Given the description of an element on the screen output the (x, y) to click on. 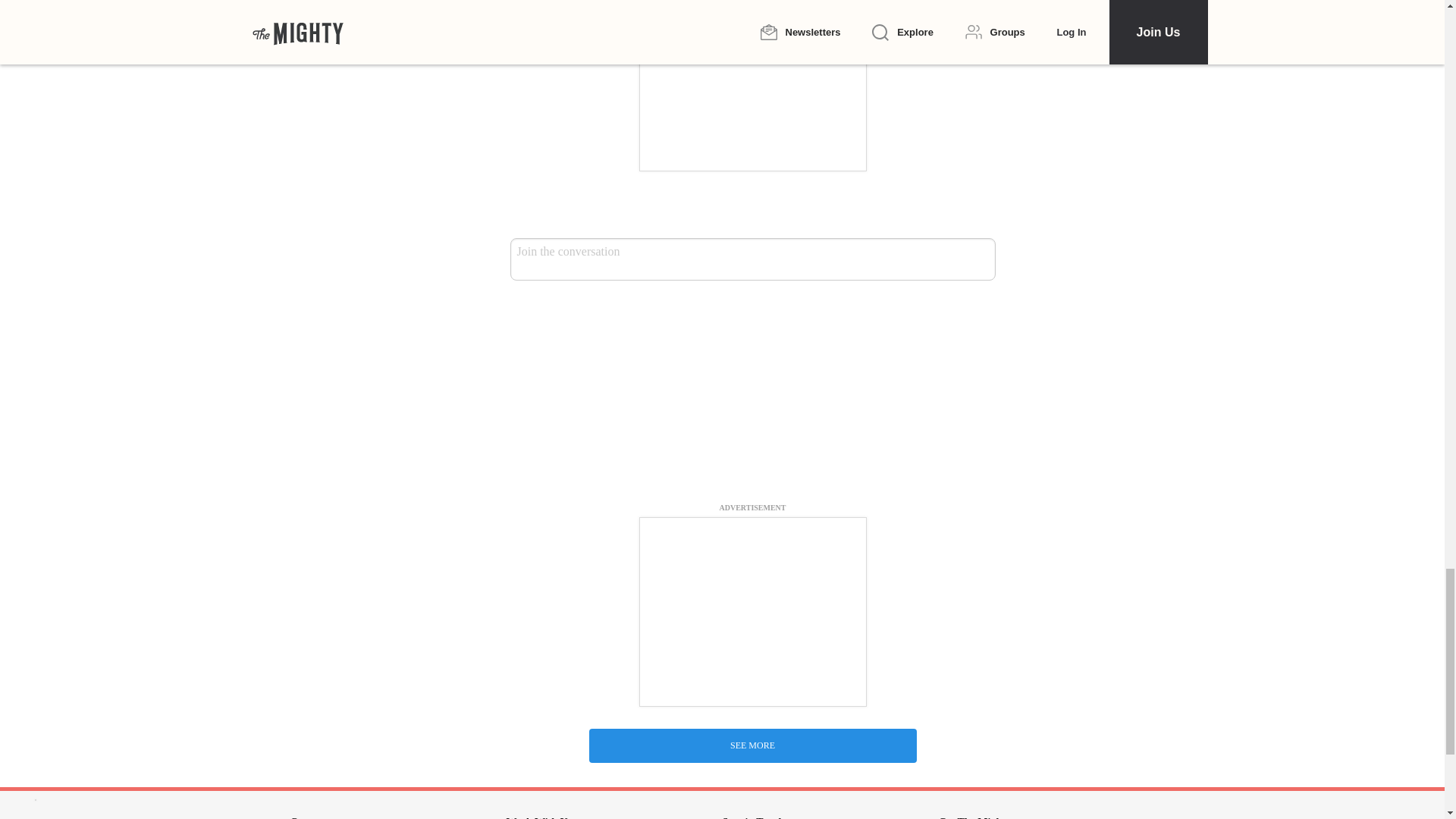
How Cerebral Palsy Affects My Life (752, 384)
How Cerebral Palsy Affects My Life (752, 551)
Why No One Can See My Hardest Days With Cerebral Palsy (752, 730)
Visit Emma's profile (545, 485)
